Given the description of an element on the screen output the (x, y) to click on. 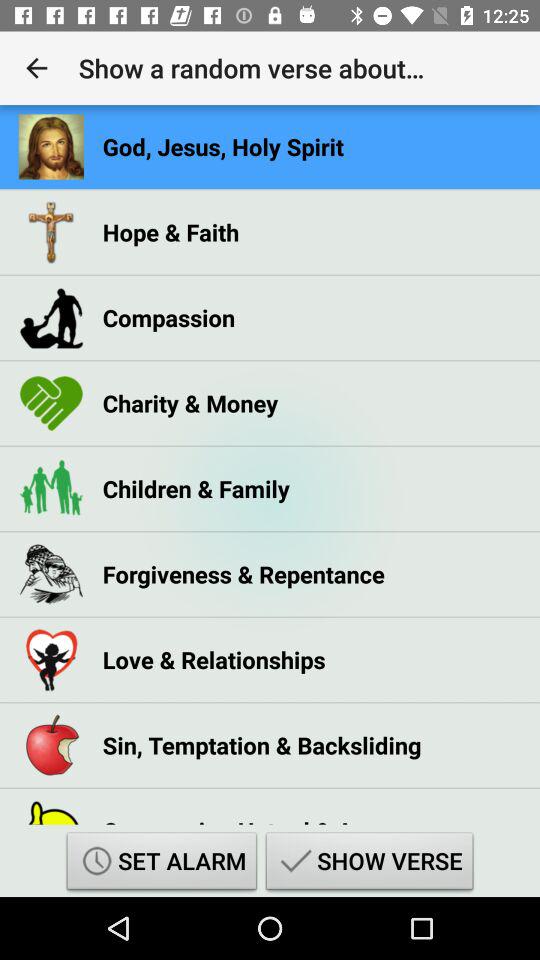
open the app next to the show a random app (36, 68)
